Given the description of an element on the screen output the (x, y) to click on. 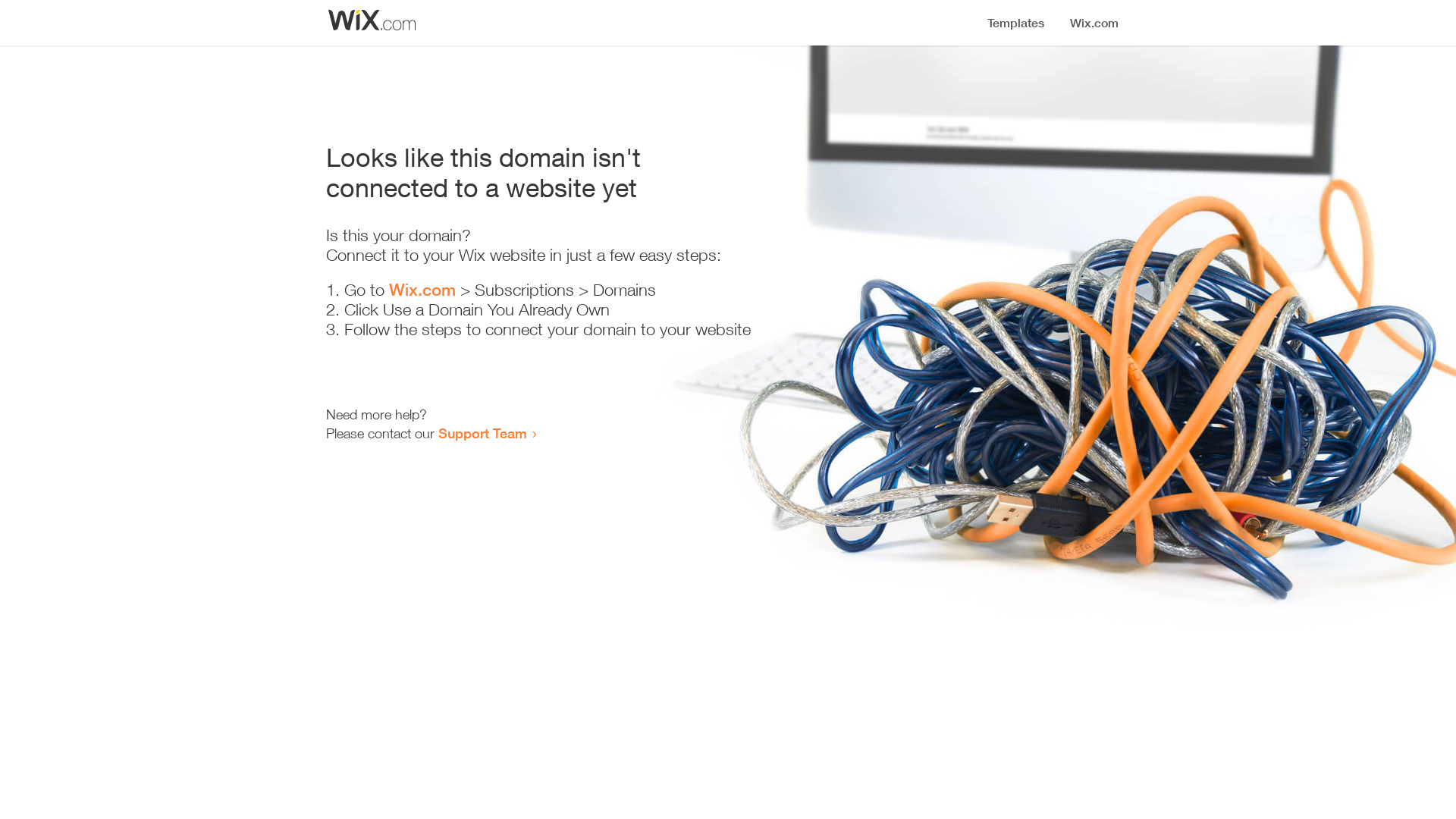
Support Team Element type: text (482, 432)
Wix.com Element type: text (422, 289)
